Given the description of an element on the screen output the (x, y) to click on. 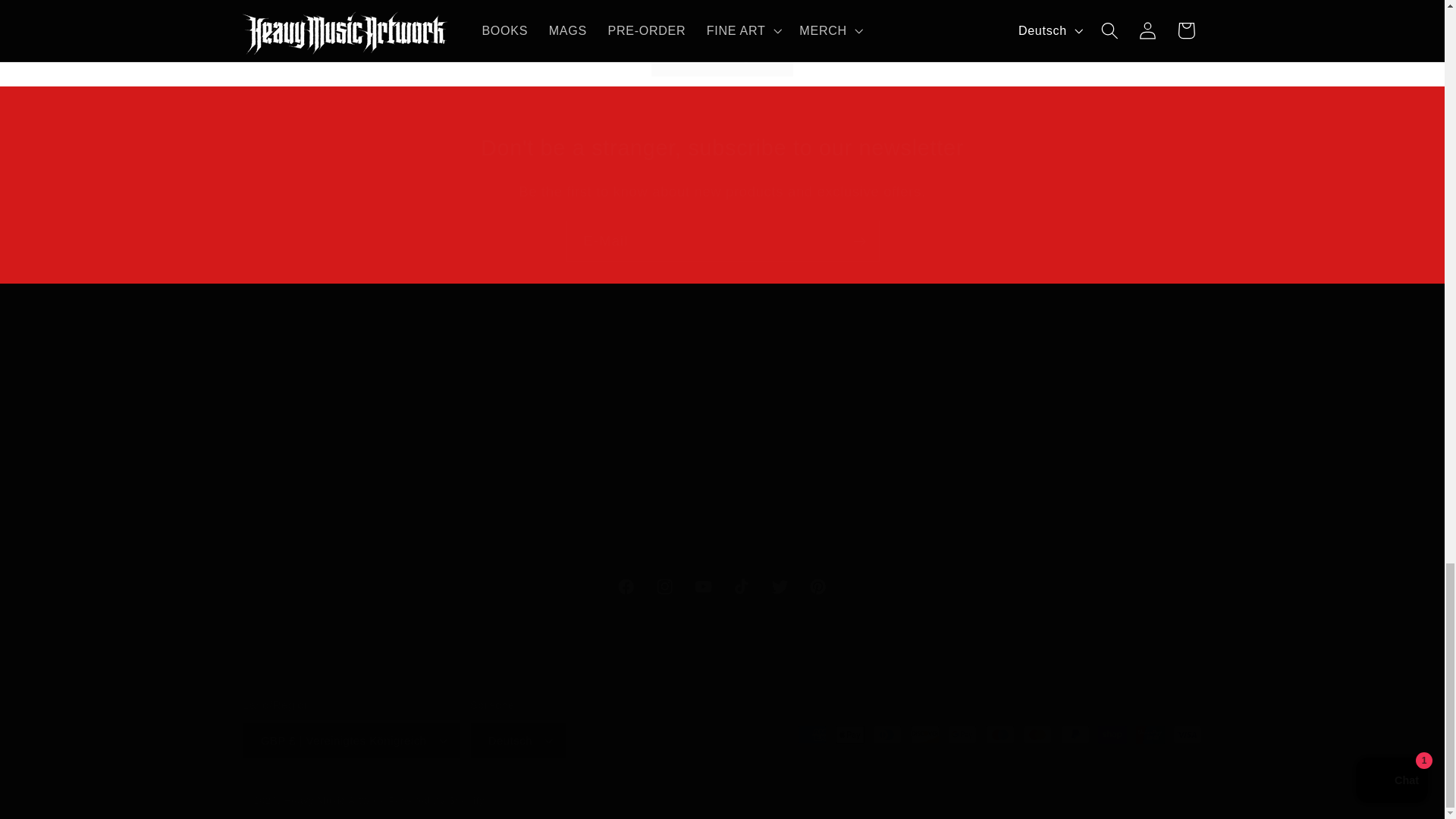
E-Mail (722, 586)
Don't be a stranger, subscribe to our newsletter (722, 240)
